Given the description of an element on the screen output the (x, y) to click on. 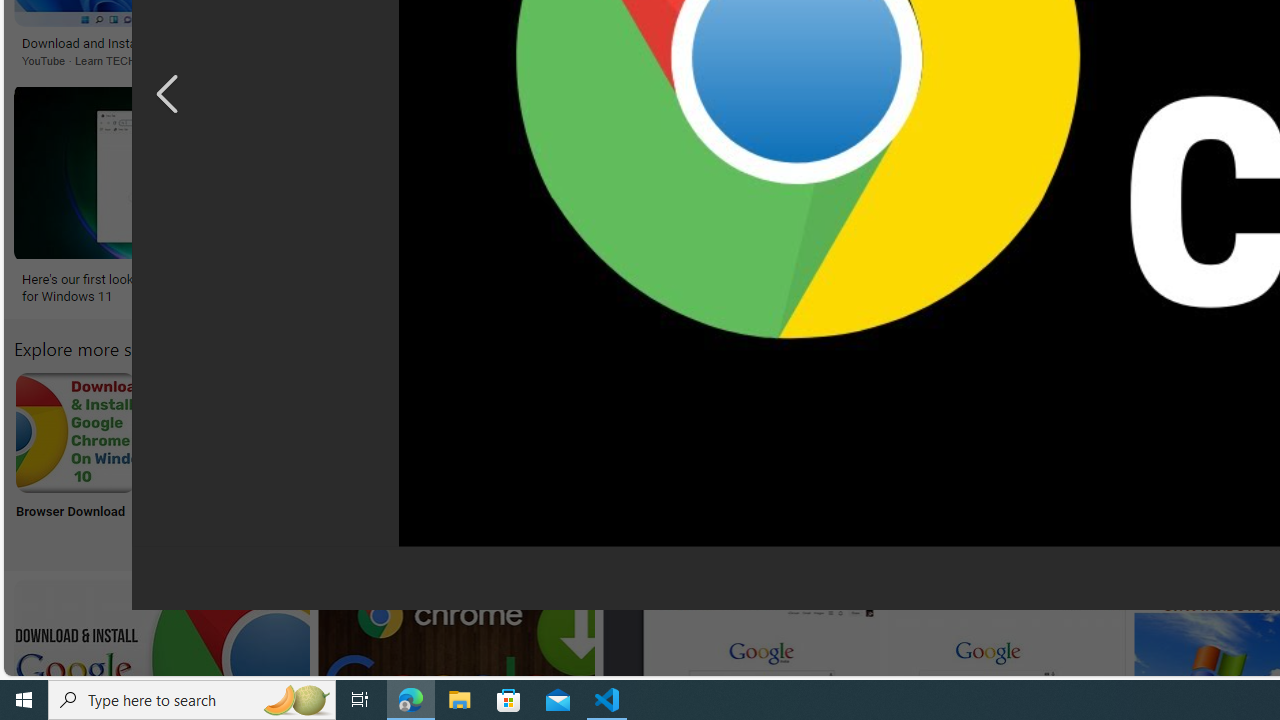
Browser Download (74, 457)
Icon.png (867, 457)
Chrome Search Engine Search Engine (472, 458)
Chrome Browser Download Browser Download (75, 458)
Chrome Color PNG (1131, 432)
Image result for Chrome Windows (1104, 172)
Chrome Search Engine (472, 432)
About Google Chrome About Google (604, 458)
apk+Download (207, 457)
Windows-10-Google-Chrome - Windows ModeSave (1108, 196)
Chrome Color PNG Color PNG (1131, 458)
Search Engine (472, 457)
